Given the description of an element on the screen output the (x, y) to click on. 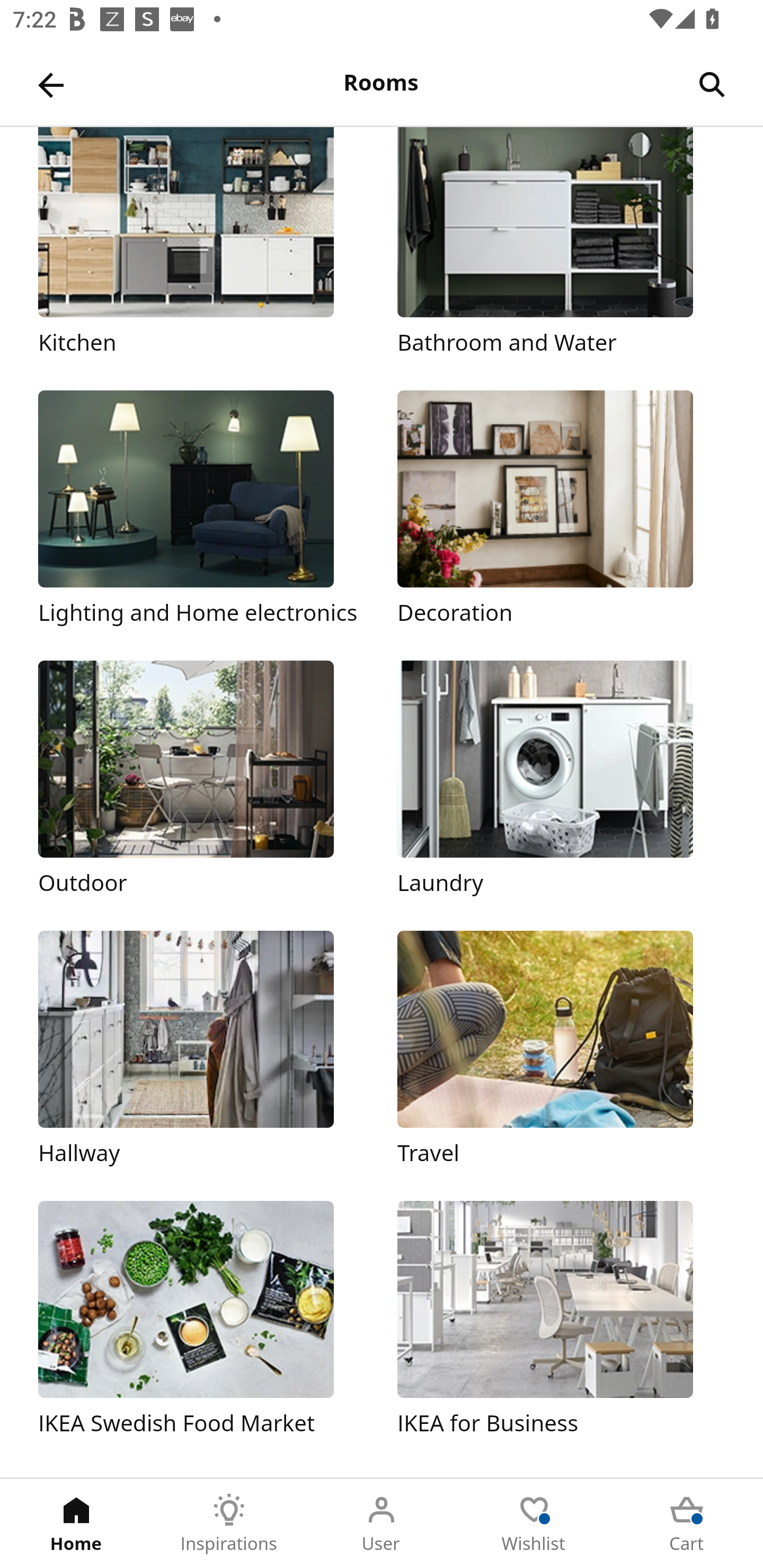
Kitchen (201, 243)
Bathroom and Water (560, 243)
Lighting and Home electronics (201, 509)
Decoration (560, 509)
Outdoor (201, 779)
Laundry (560, 779)
Hallway (201, 1050)
Travel (560, 1050)
IKEA Swedish Food Market (201, 1320)
IKEA for Business (560, 1320)
Home
Tab 1 of 5 (76, 1522)
Inspirations
Tab 2 of 5 (228, 1522)
User
Tab 3 of 5 (381, 1522)
Wishlist
Tab 4 of 5 (533, 1522)
Cart
Tab 5 of 5 (686, 1522)
